Given the description of an element on the screen output the (x, y) to click on. 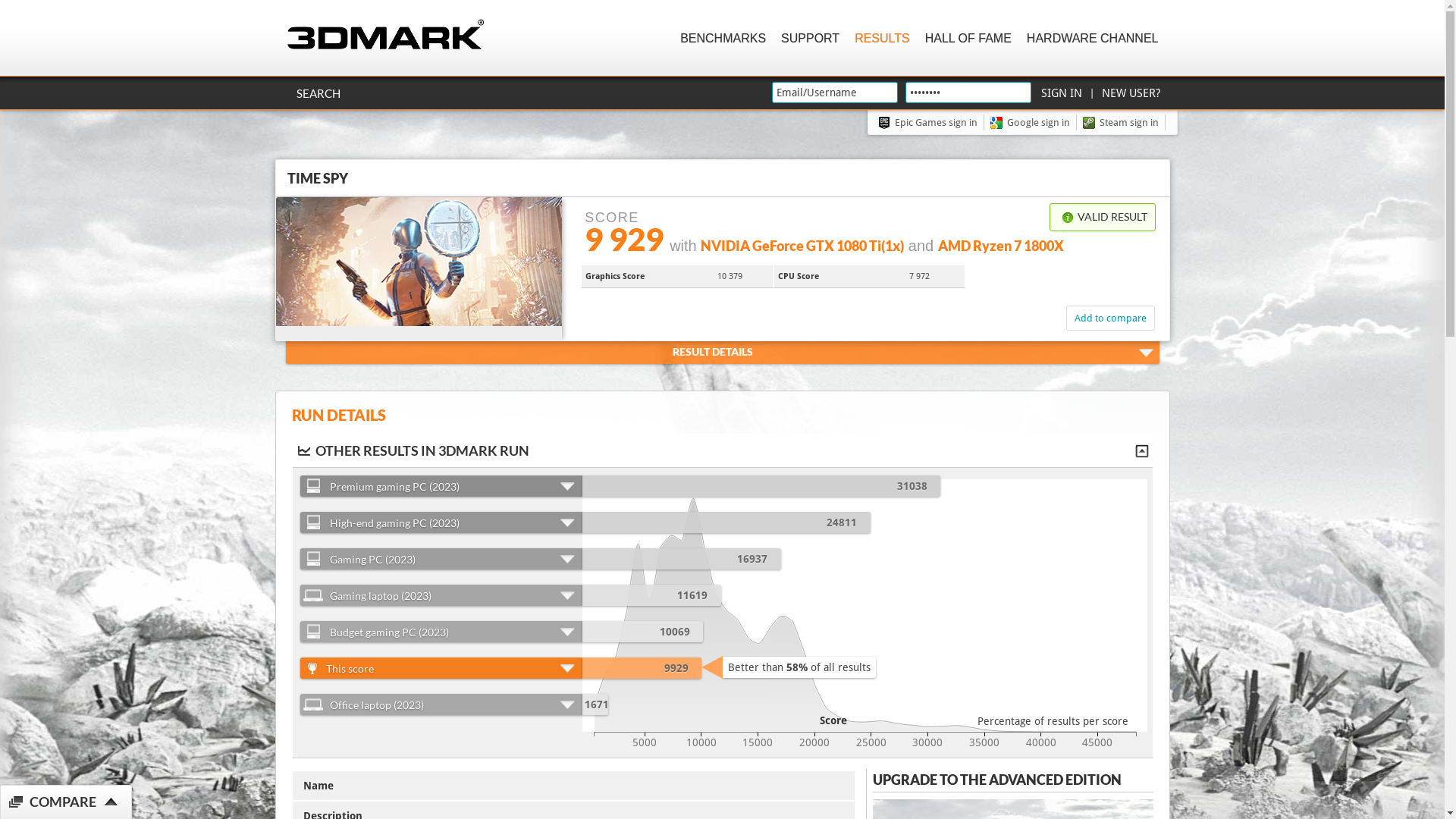
HALL OF FAME Element type: text (968, 38)
RESULTS Element type: text (882, 38)
New User? Element type: text (1130, 92)
Add to compare Element type: text (1110, 317)
SEARCH Element type: text (317, 92)
Steam sign in Element type: text (1123, 122)
Google sign in Element type: text (1033, 122)
OTHER RESULTS IN 3DMARK RUN Element type: text (723, 450)
Password Element type: text (968, 92)
BENCHMARKS Element type: text (722, 38)
3dMark.com Element type: hover (384, 34)
Epic Games sign in Element type: text (931, 122)
Sign in Element type: text (1060, 92)
HARDWARE CHANNEL Element type: text (1092, 38)
SUPPORT Element type: text (810, 38)
